Given the description of an element on the screen output the (x, y) to click on. 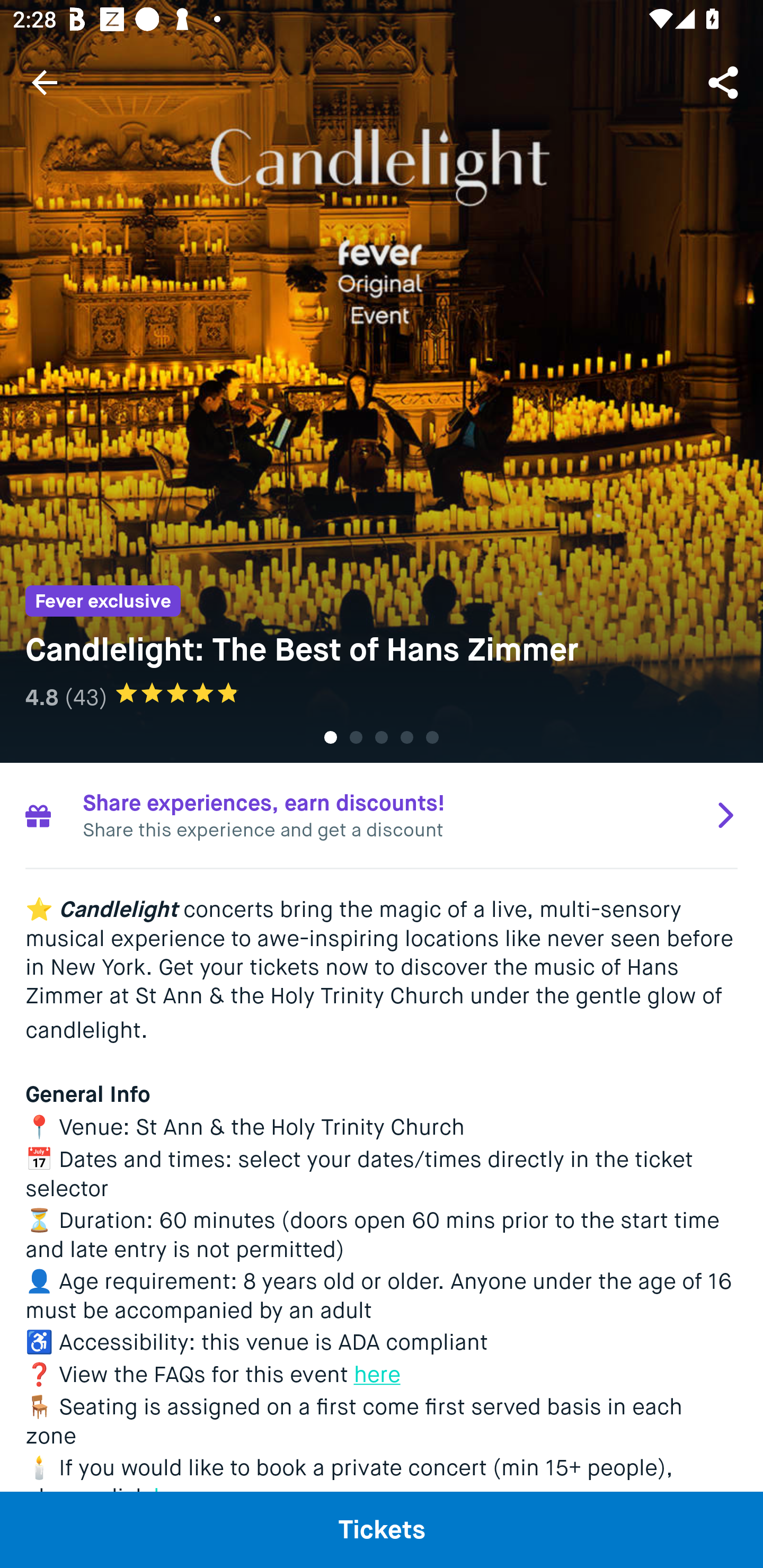
Navigate up (44, 82)
Share (724, 81)
(43) (85, 697)
Tickets (381, 1529)
